Given the description of an element on the screen output the (x, y) to click on. 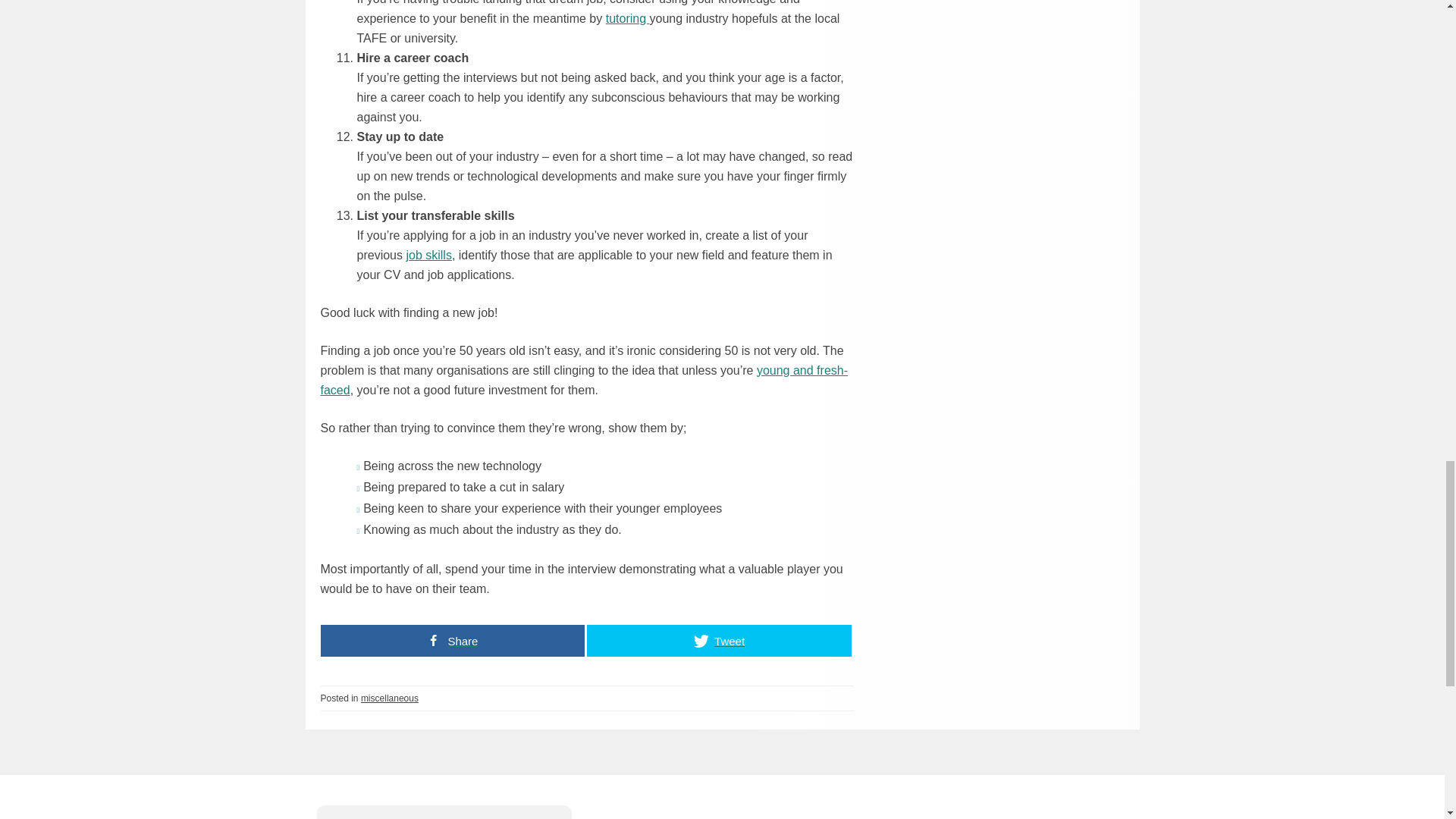
young and fresh-faced (583, 379)
miscellaneous (390, 697)
Tweet (718, 640)
Share (452, 640)
tutoring (627, 18)
job skills (428, 254)
